Given the description of an element on the screen output the (x, y) to click on. 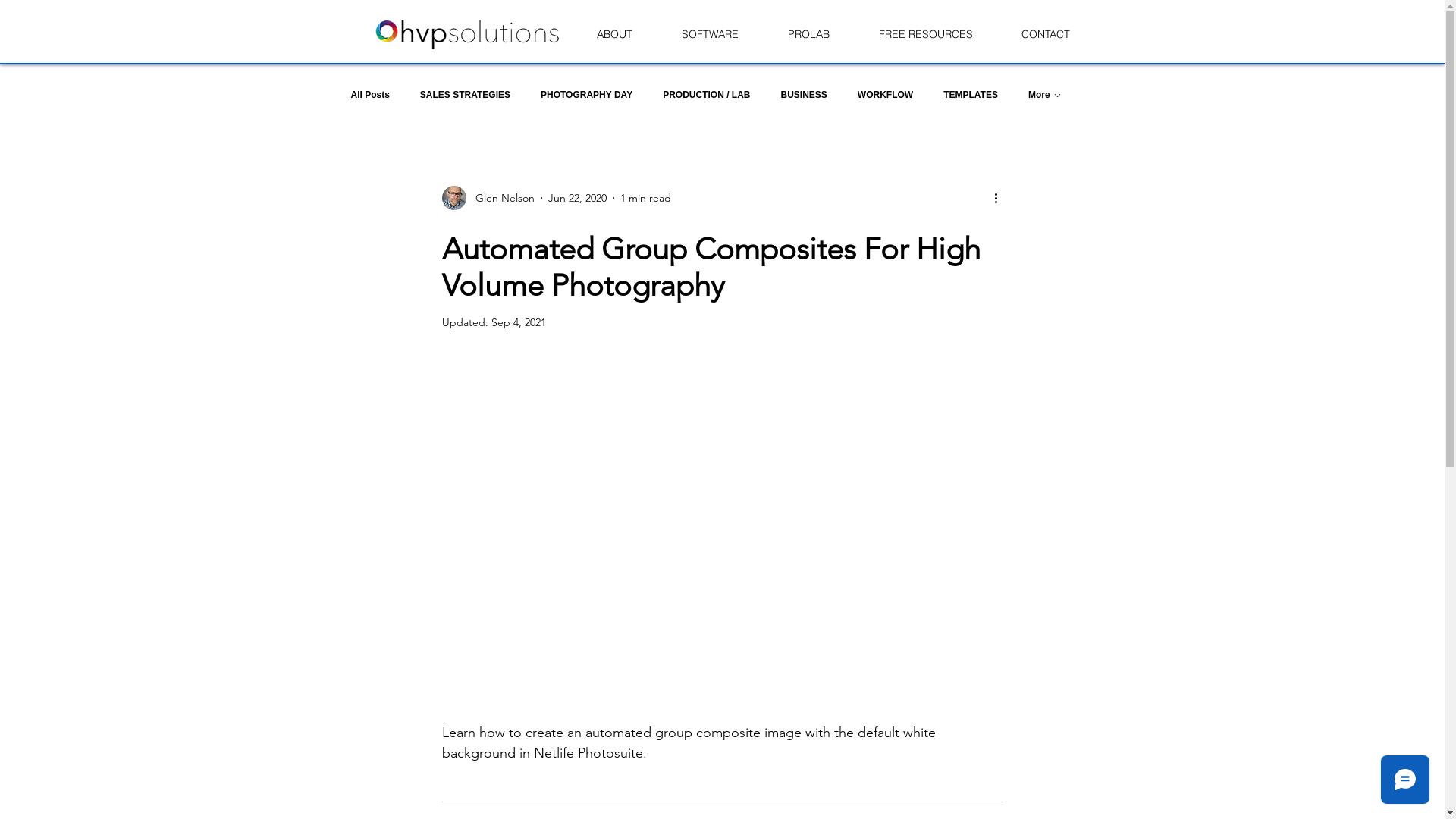
ABOUT Element type: text (613, 34)
TEMPLATES Element type: text (970, 94)
CONTACT Element type: text (1044, 34)
FREE RESOURCES Element type: text (925, 34)
BUSINESS Element type: text (804, 94)
WORKFLOW Element type: text (885, 94)
PROLAB Element type: text (807, 34)
PHOTOGRAPHY DAY Element type: text (586, 94)
PRODUCTION / LAB Element type: text (705, 94)
All Posts Element type: text (369, 94)
Glen Nelson Element type: text (487, 197)
SALES STRATEGIES Element type: text (465, 94)
